Given the description of an element on the screen output the (x, y) to click on. 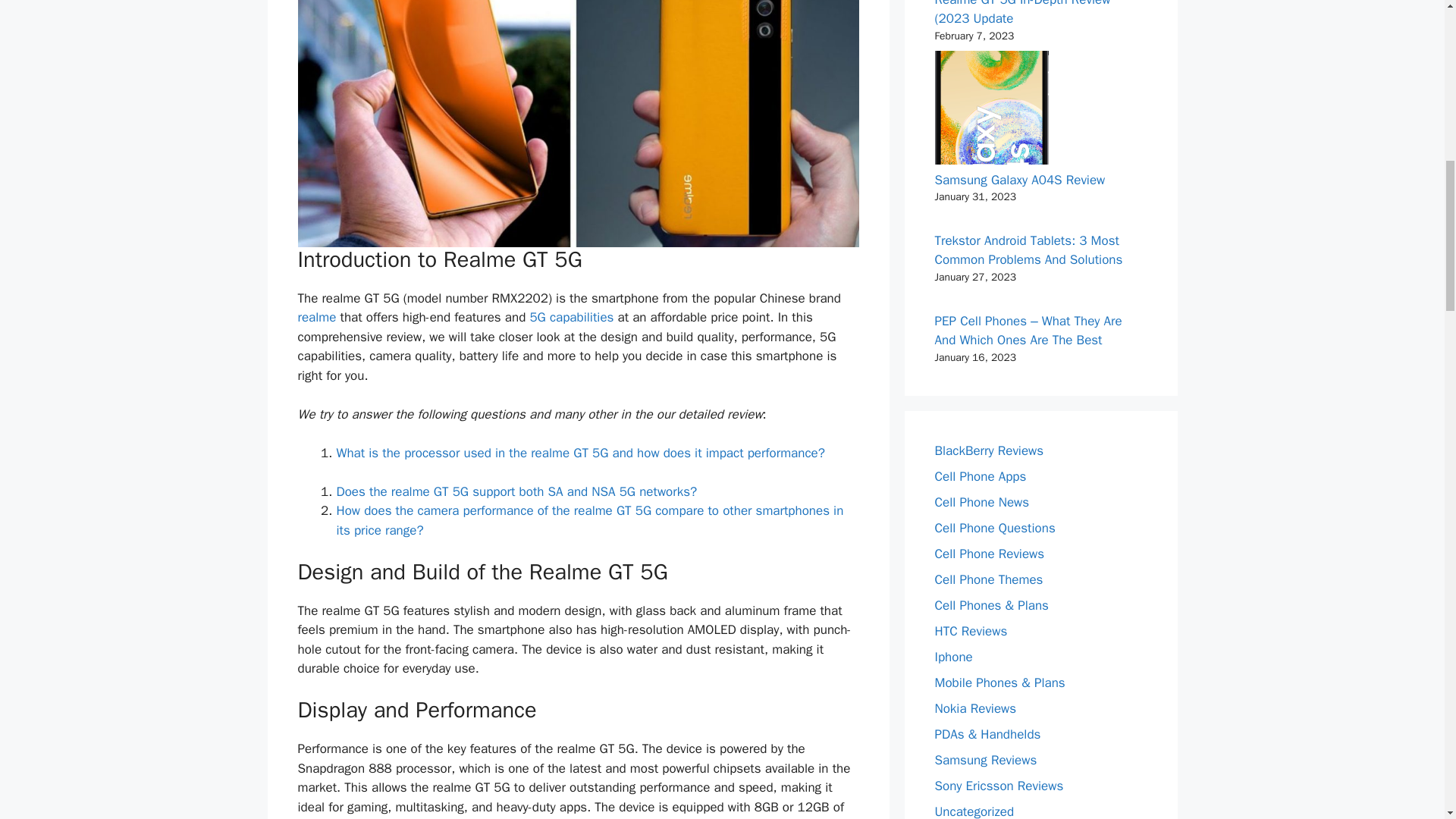
realme (316, 317)
Does the realme GT 5G support both SA and NSA 5G networks? (516, 491)
5G capabilities (570, 317)
